Given the description of an element on the screen output the (x, y) to click on. 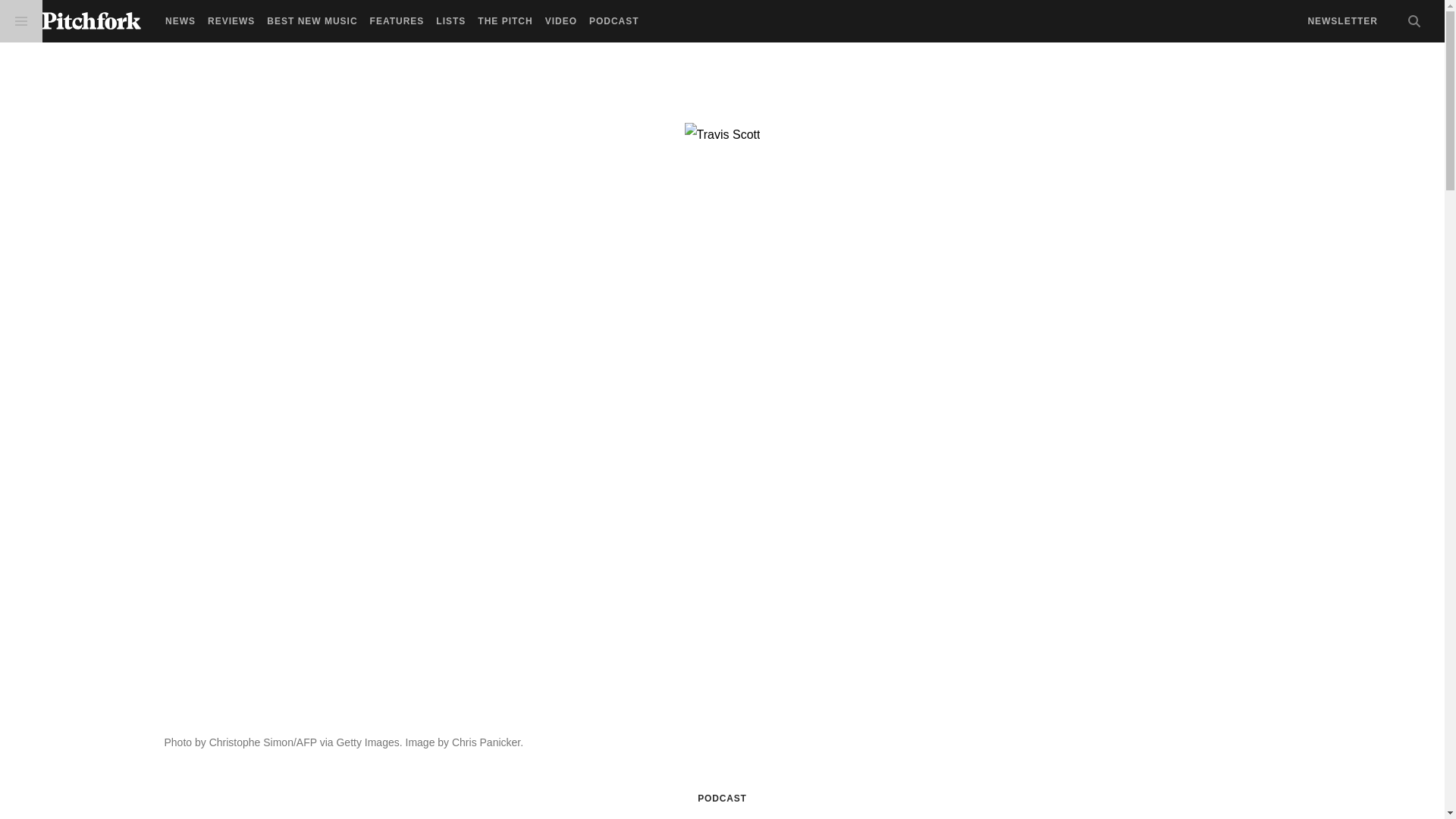
NEWS (180, 20)
THE PITCH (504, 20)
REVIEWS (231, 20)
NEWSLETTER (1342, 20)
PODCAST (721, 798)
FEATURES (397, 20)
OPEN NAVIGATION MENU (21, 21)
LISTS (450, 20)
VIDEO (560, 20)
BEST NEW MUSIC (311, 20)
PODCAST (614, 20)
